Given the description of an element on the screen output the (x, y) to click on. 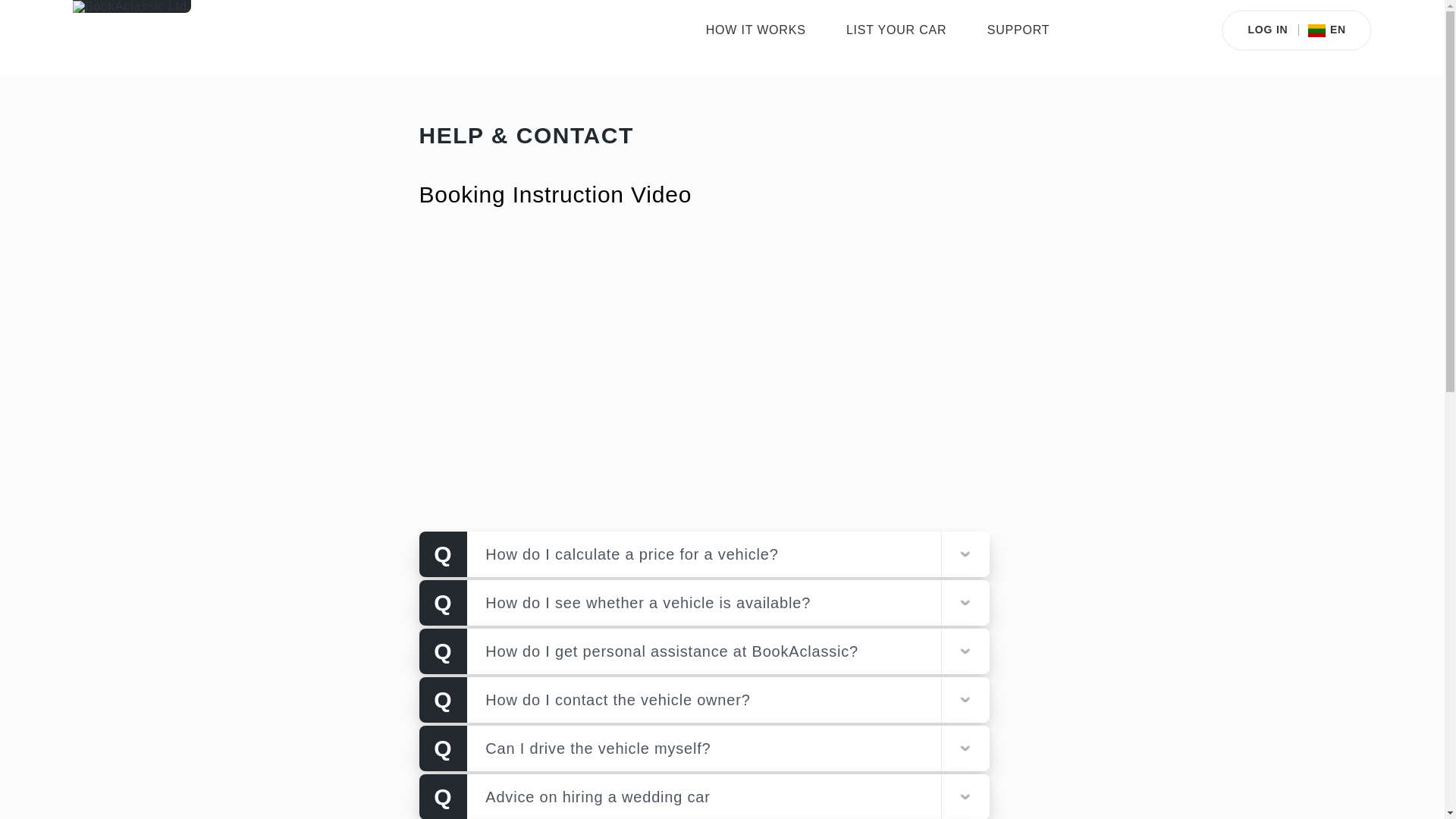
LOG IN (1267, 30)
HOW IT WORKS (756, 30)
SUPPORT (1018, 30)
LIST YOUR CAR (896, 30)
EN (1321, 30)
